Given the description of an element on the screen output the (x, y) to click on. 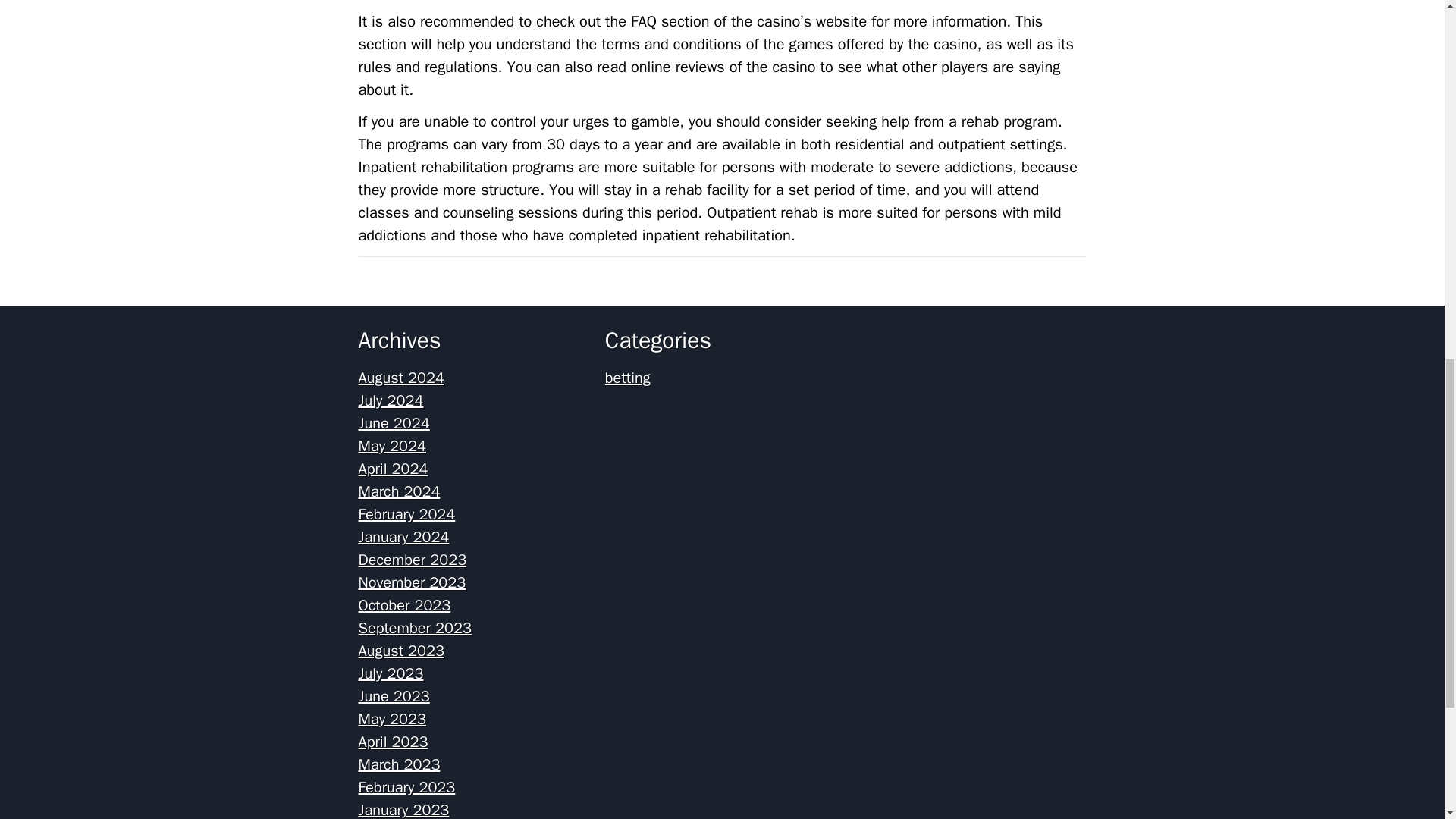
March 2024 (398, 491)
September 2023 (414, 628)
February 2023 (406, 787)
May 2023 (392, 719)
March 2023 (398, 764)
February 2024 (406, 514)
December 2023 (411, 559)
April 2024 (393, 468)
April 2023 (393, 741)
August 2024 (401, 377)
